Given the description of an element on the screen output the (x, y) to click on. 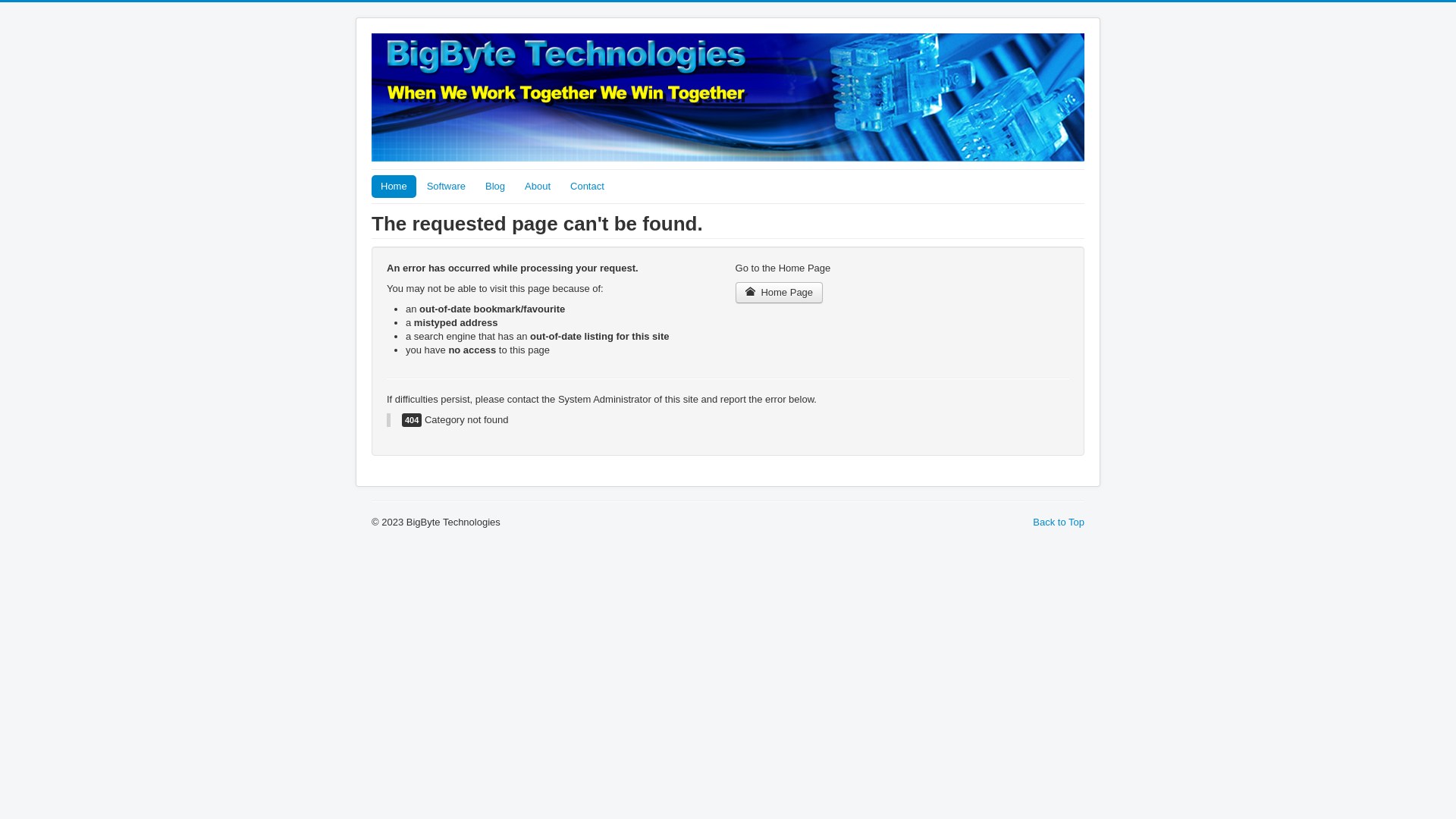
Contact Element type: text (587, 186)
About Element type: text (537, 186)
Home Element type: text (393, 186)
Blog Element type: text (495, 186)
Software Element type: text (445, 186)
Back to Top Element type: text (1058, 521)
Home Page Element type: text (779, 292)
